Given the description of an element on the screen output the (x, y) to click on. 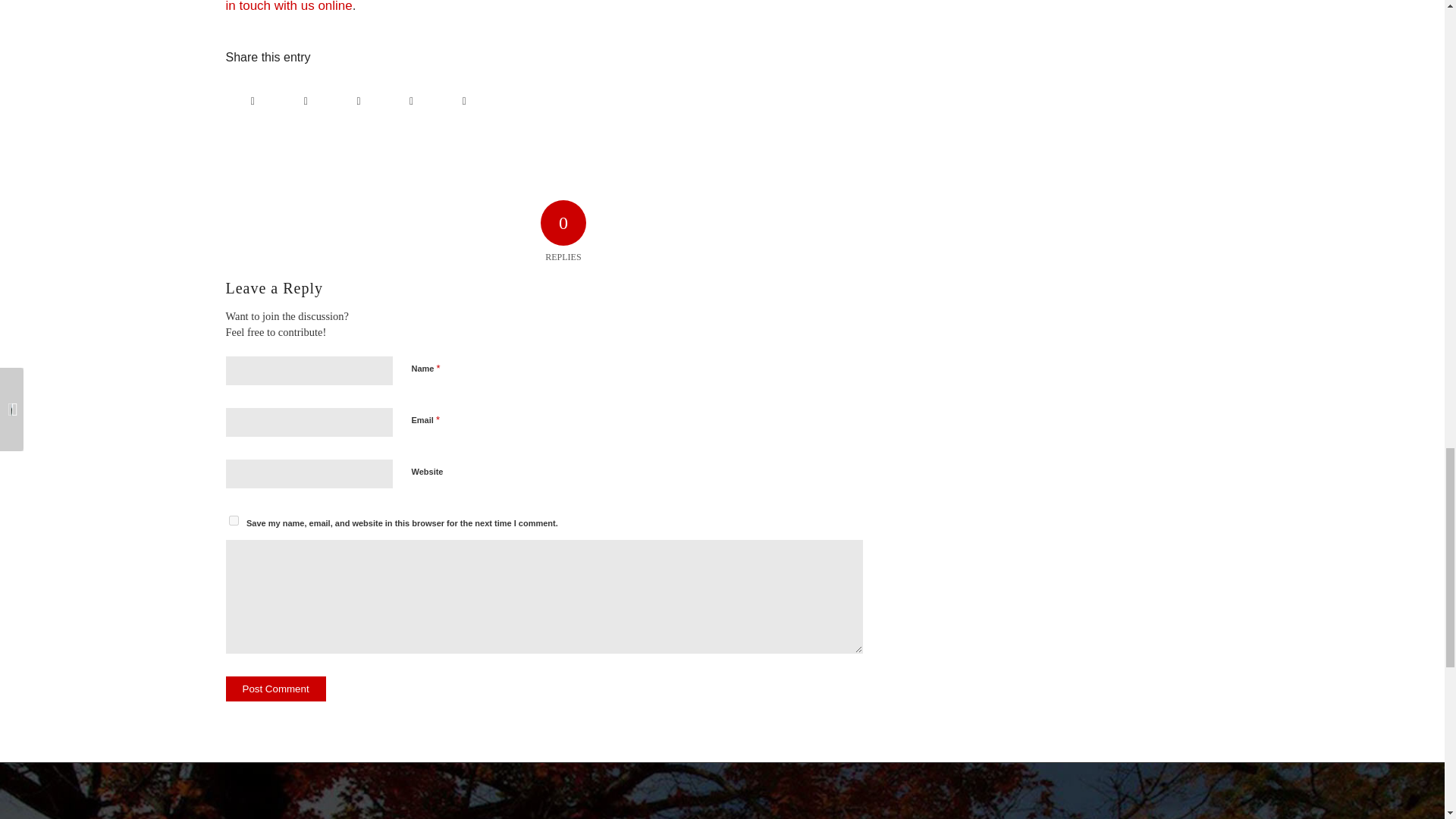
Post Comment (275, 688)
yes (233, 520)
